Given the description of an element on the screen output the (x, y) to click on. 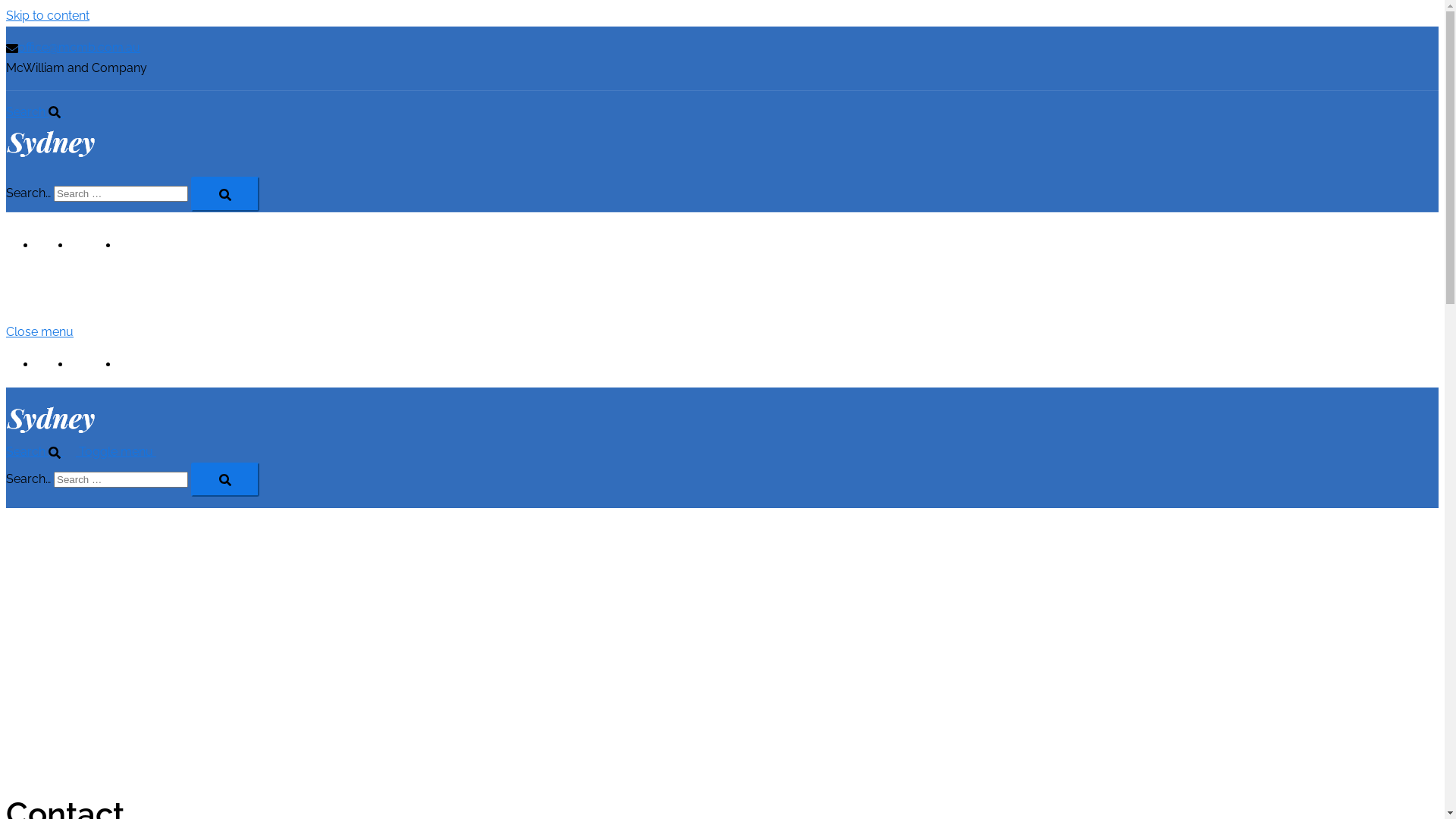
McWilliam & Company Element type: hover (50, 430)
Home Element type: text (53, 245)
Search Element type: text (225, 193)
McWilliam & Company Element type: hover (50, 311)
Close menu Element type: text (45, 331)
Skip to content Element type: text (47, 15)
Contact Element type: text (141, 245)
McWilliam & Company Element type: hover (50, 154)
Home Element type: text (53, 364)
Search Element type: text (42, 451)
Search Element type: text (225, 479)
office@mcmb.com.au Element type: text (73, 47)
Search Element type: text (40, 111)
Contact Element type: text (141, 364)
Services Element type: text (95, 245)
Toggle menu Element type: text (123, 451)
Services Element type: text (95, 364)
